Given the description of an element on the screen output the (x, y) to click on. 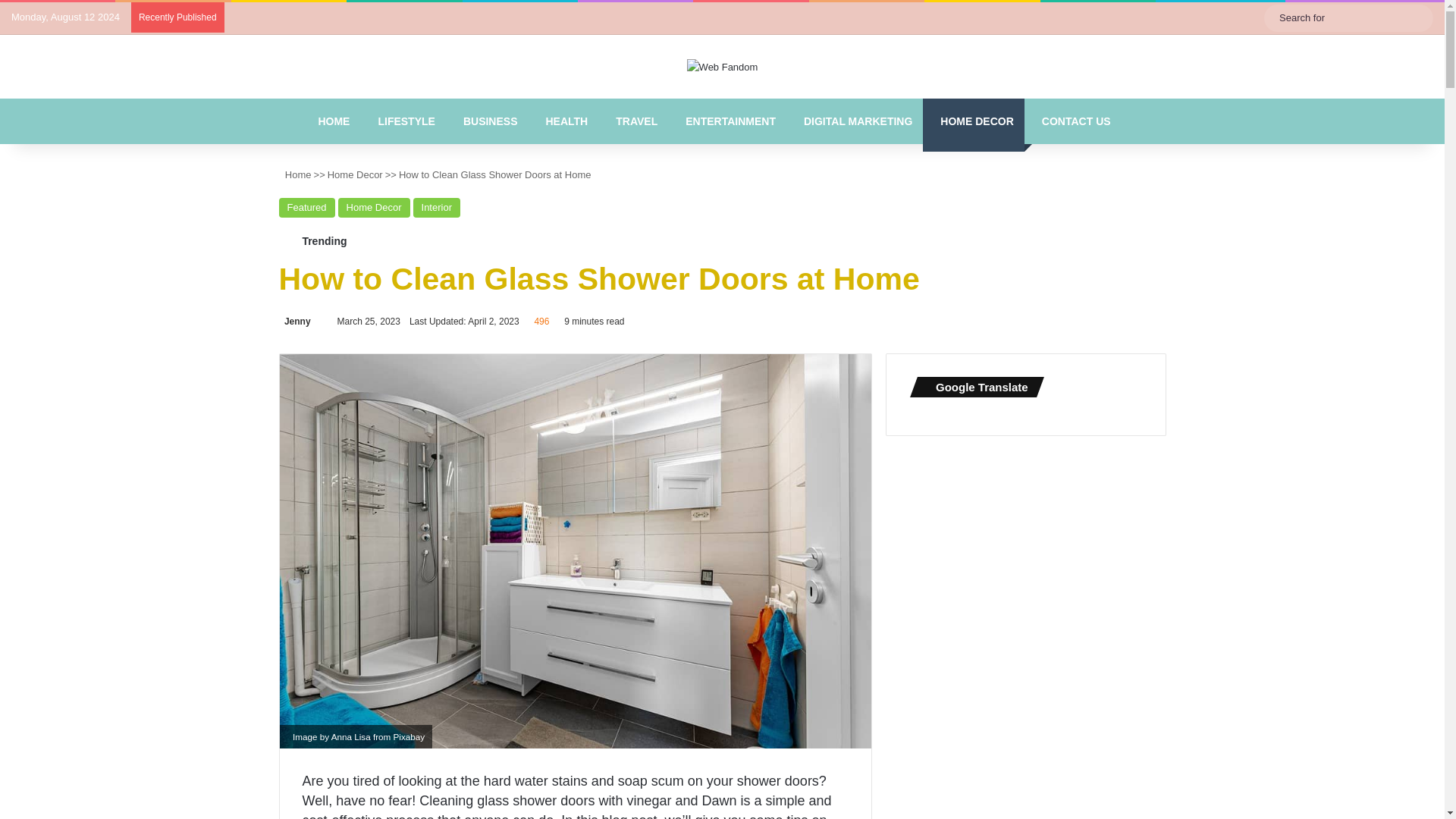
LIFESTYLE (402, 121)
Home (295, 174)
CONTACT US (1073, 121)
Featured (306, 207)
HEALTH (562, 121)
HOME DECOR (973, 121)
Home Decor (373, 207)
TRAVEL (633, 121)
Jenny (295, 321)
ENTERTAINMENT (727, 121)
